Given the description of an element on the screen output the (x, y) to click on. 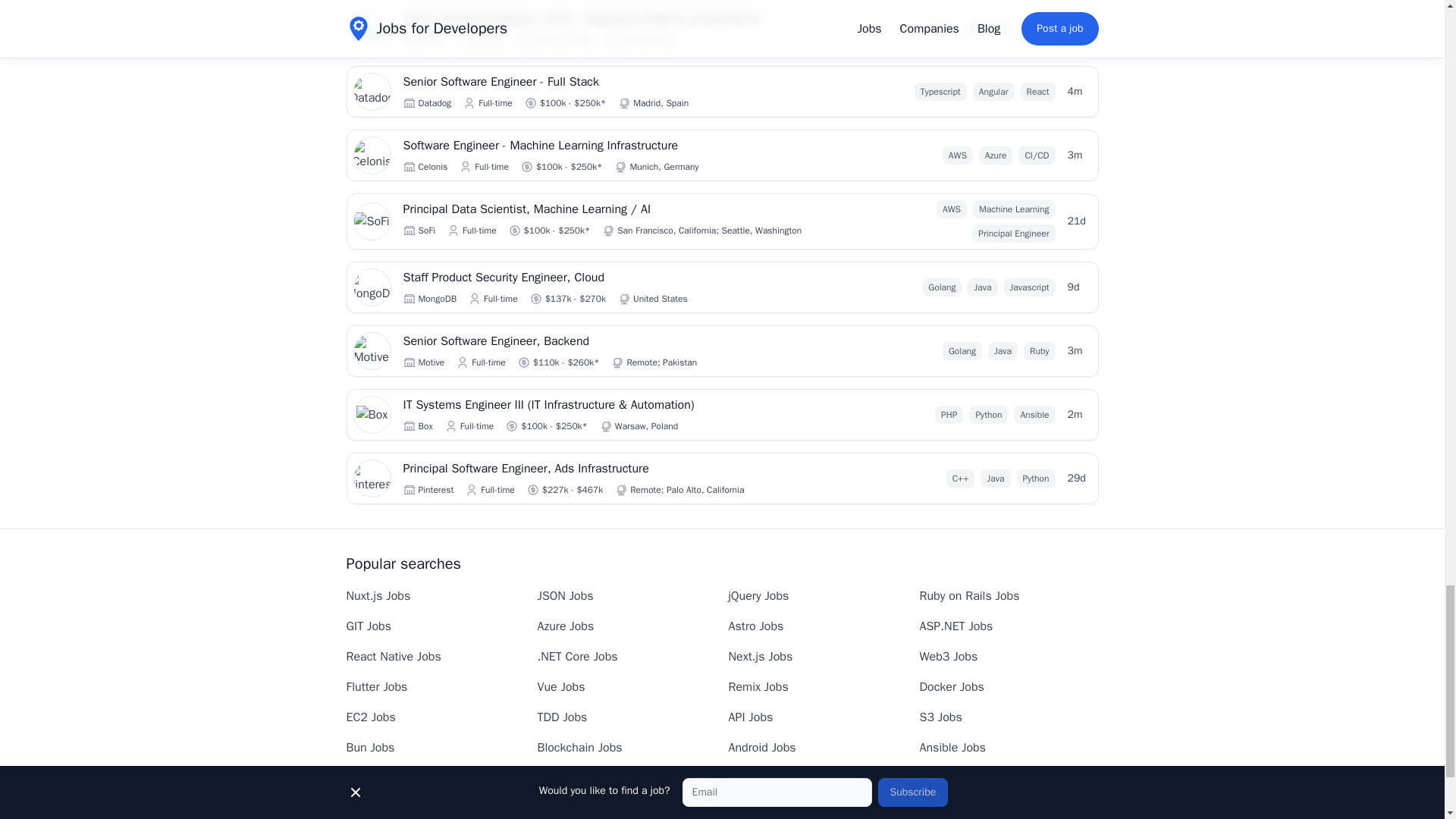
United States (647, 39)
Senior Software Engineer - Full Stack (593, 81)
